Given the description of an element on the screen output the (x, y) to click on. 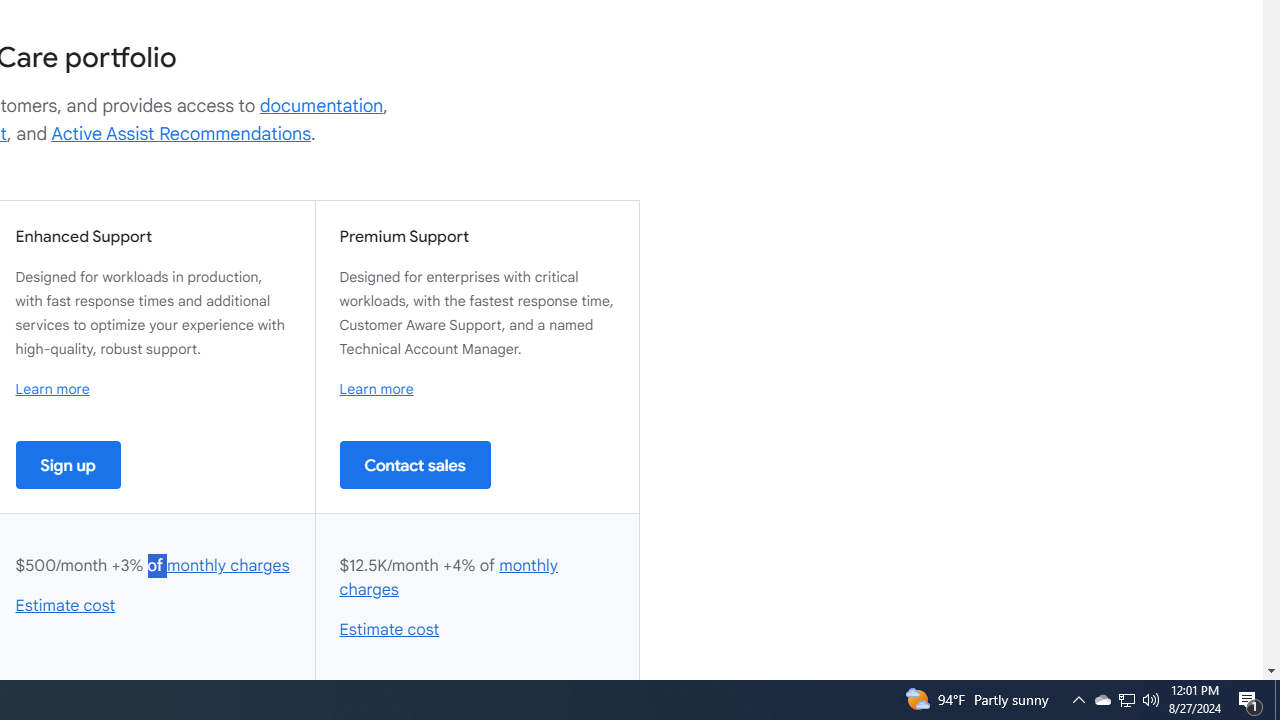
documentation (321, 105)
Sign up (68, 464)
Learn more (376, 389)
Active Assist Recommendations (181, 133)
Contact sales (415, 464)
Estimate cost (389, 629)
monthly charges (449, 577)
